Given the description of an element on the screen output the (x, y) to click on. 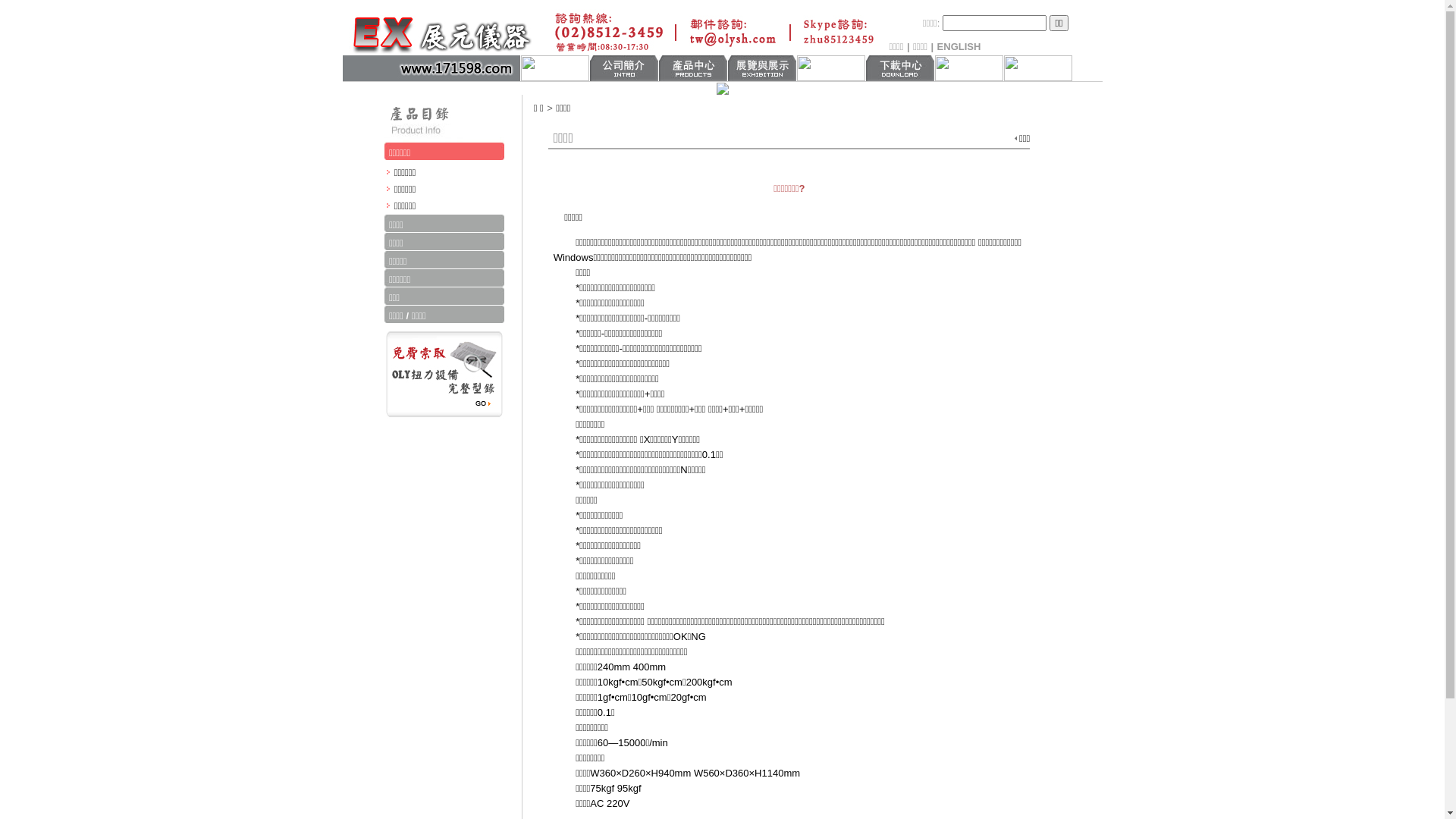
ENGLISH Element type: text (959, 46)
